Given the description of an element on the screen output the (x, y) to click on. 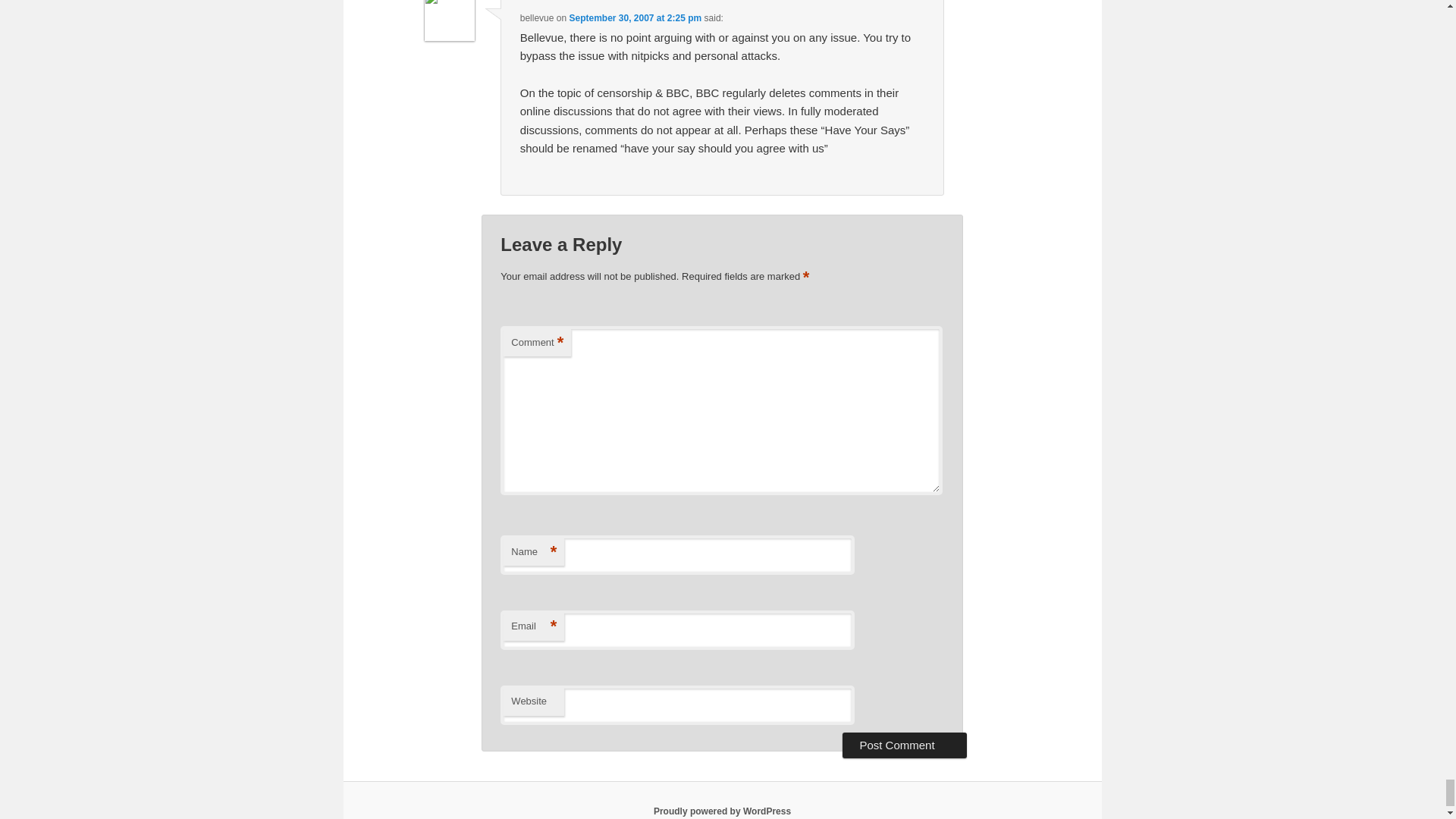
Post Comment (904, 745)
Semantic Personal Publishing Platform (721, 810)
